Given the description of an element on the screen output the (x, y) to click on. 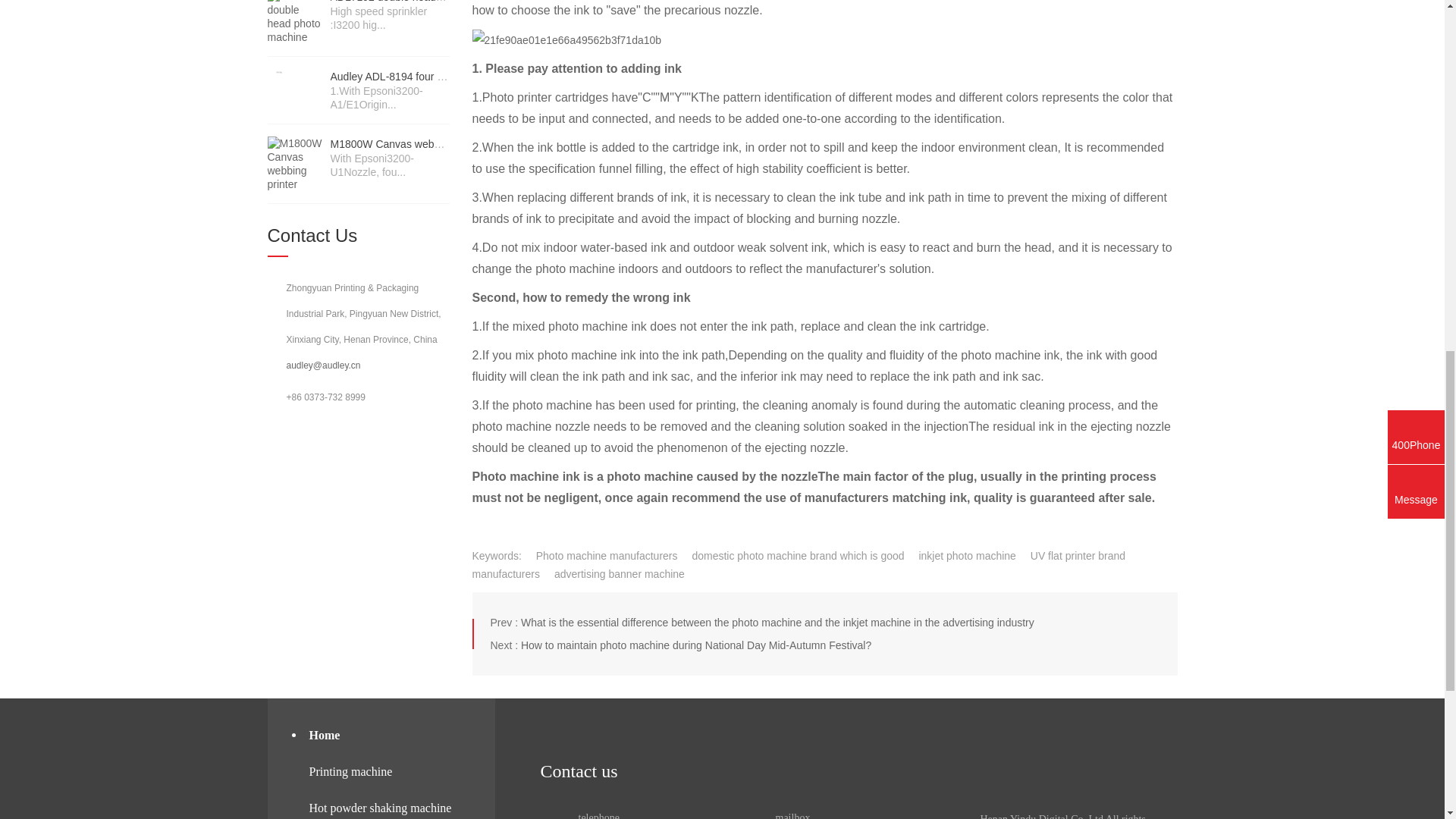
domestic photo machine brand which is good (791, 555)
Photo machine manufacturers (601, 555)
UV flat printer brand manufacturers (798, 564)
advertising banner machine (613, 573)
inkjet photo machine (960, 555)
